Given the description of an element on the screen output the (x, y) to click on. 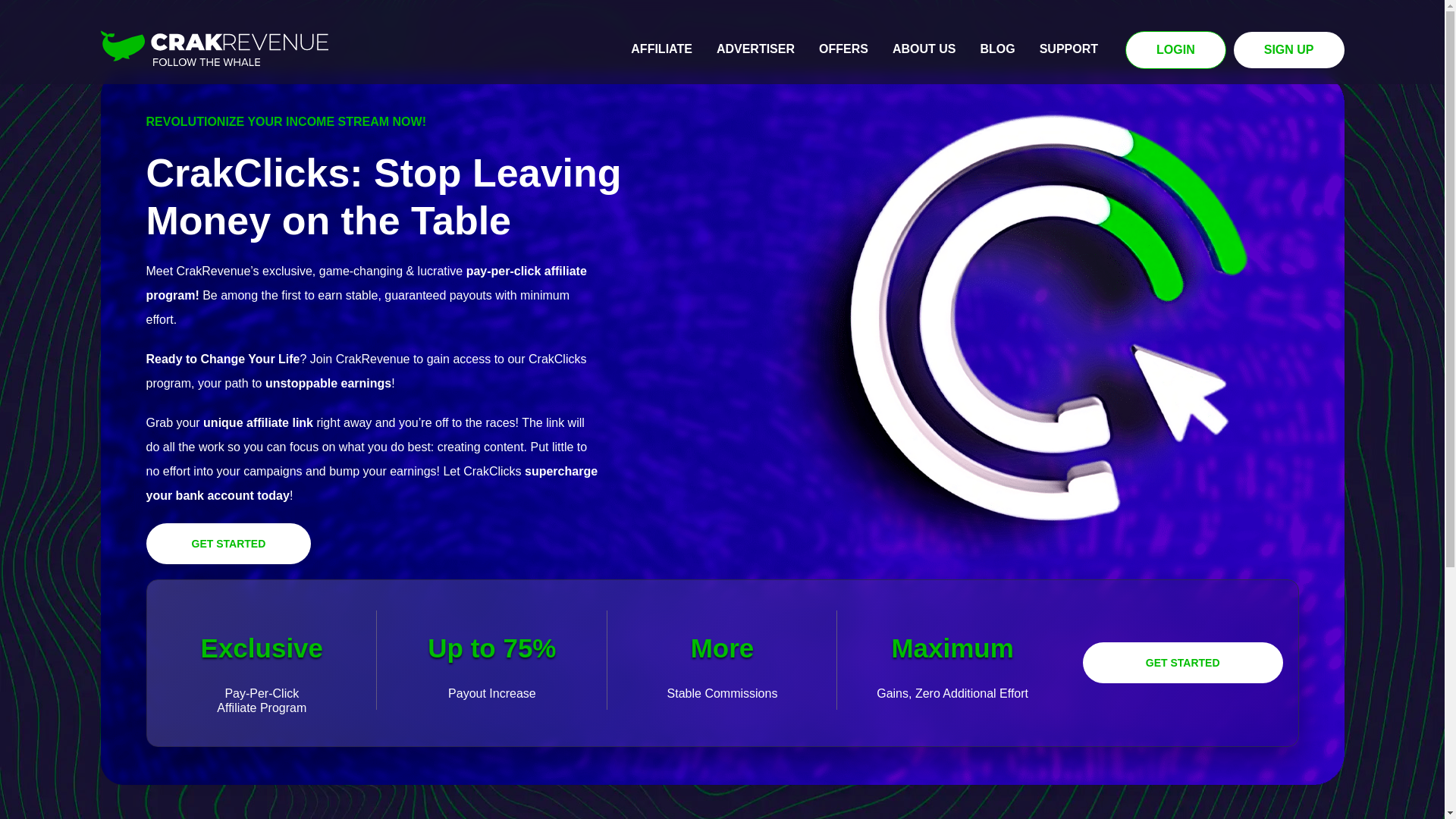
SUPPORT (1068, 49)
GET STARTED (228, 543)
SIGN UP (1288, 49)
OFFERS (843, 49)
AFFILIATE (661, 49)
ADVERTISER (755, 49)
Home (213, 49)
LOGIN (1175, 49)
BLOG (997, 49)
ABOUT US (924, 49)
